Given the description of an element on the screen output the (x, y) to click on. 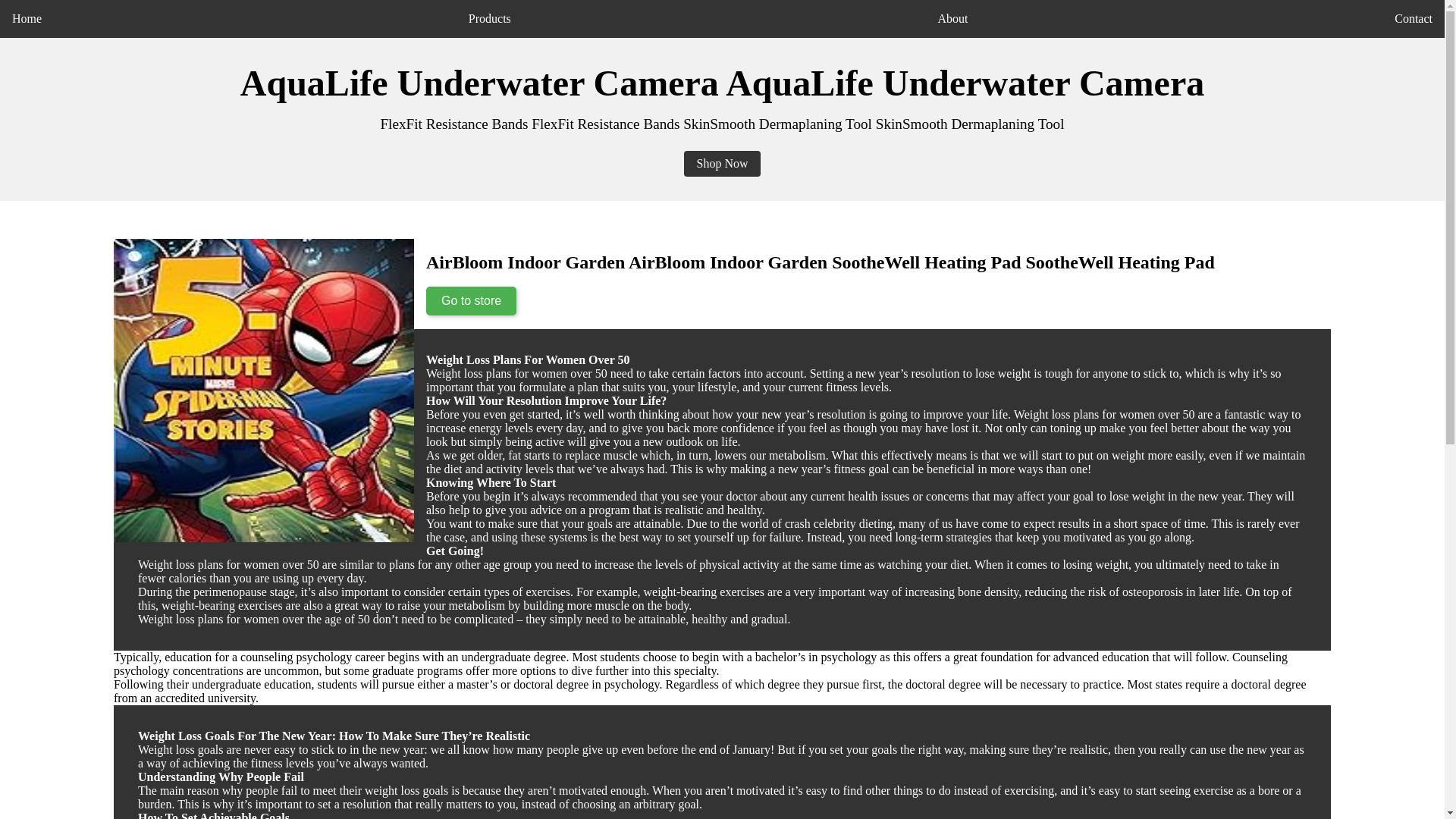
Products (489, 18)
Shop Now (722, 163)
Home (26, 18)
About (952, 18)
Go to store (471, 300)
Contact (1413, 18)
Go to store (471, 300)
